Given the description of an element on the screen output the (x, y) to click on. 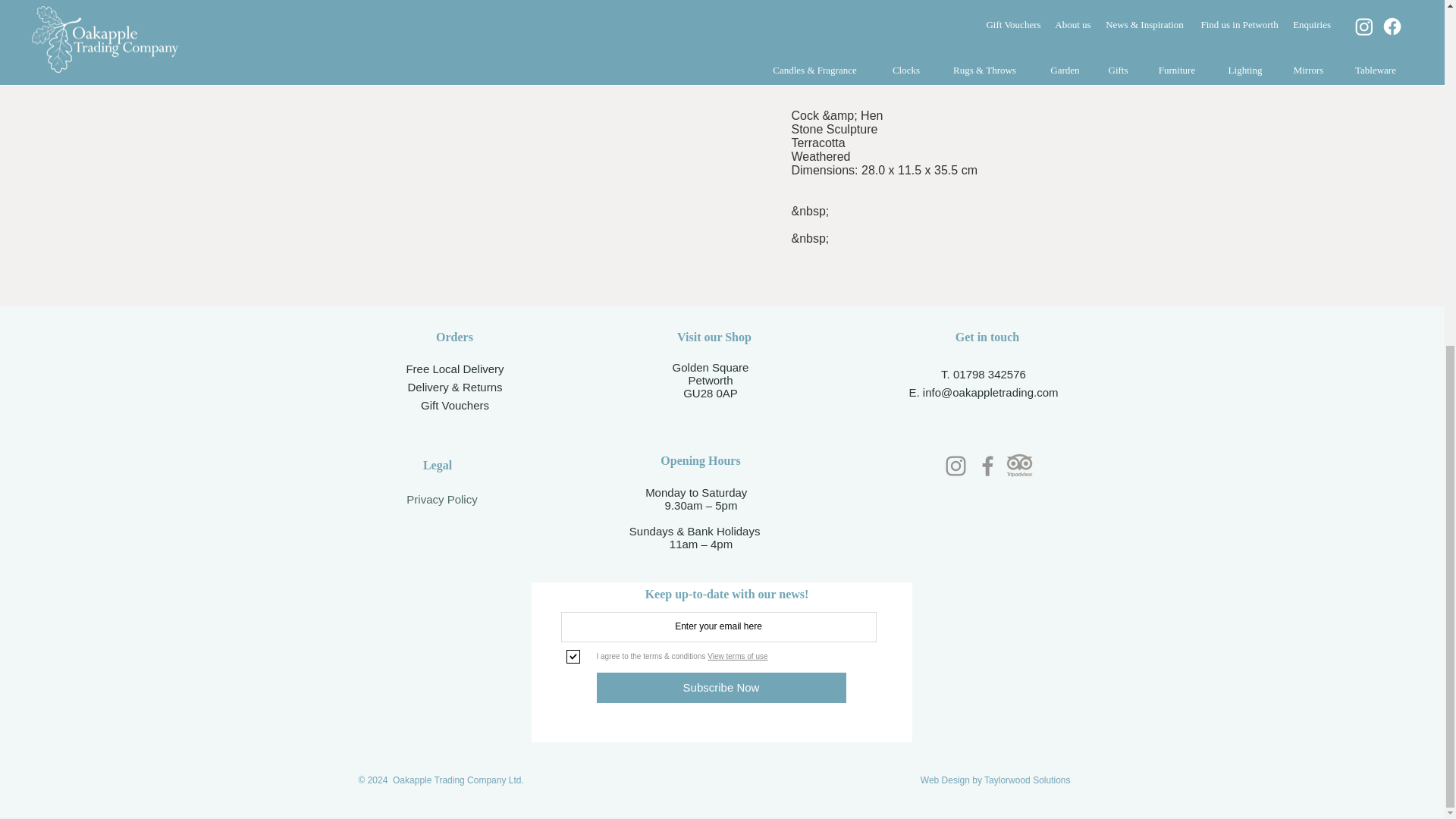
View terms of use (735, 655)
Free Local Delivery (454, 368)
Subscribe Now (720, 687)
Privacy Policy (441, 499)
Web Design (944, 779)
01798 342576 (989, 373)
Get in touch (987, 336)
Gift Vouchers (454, 404)
